Given the description of an element on the screen output the (x, y) to click on. 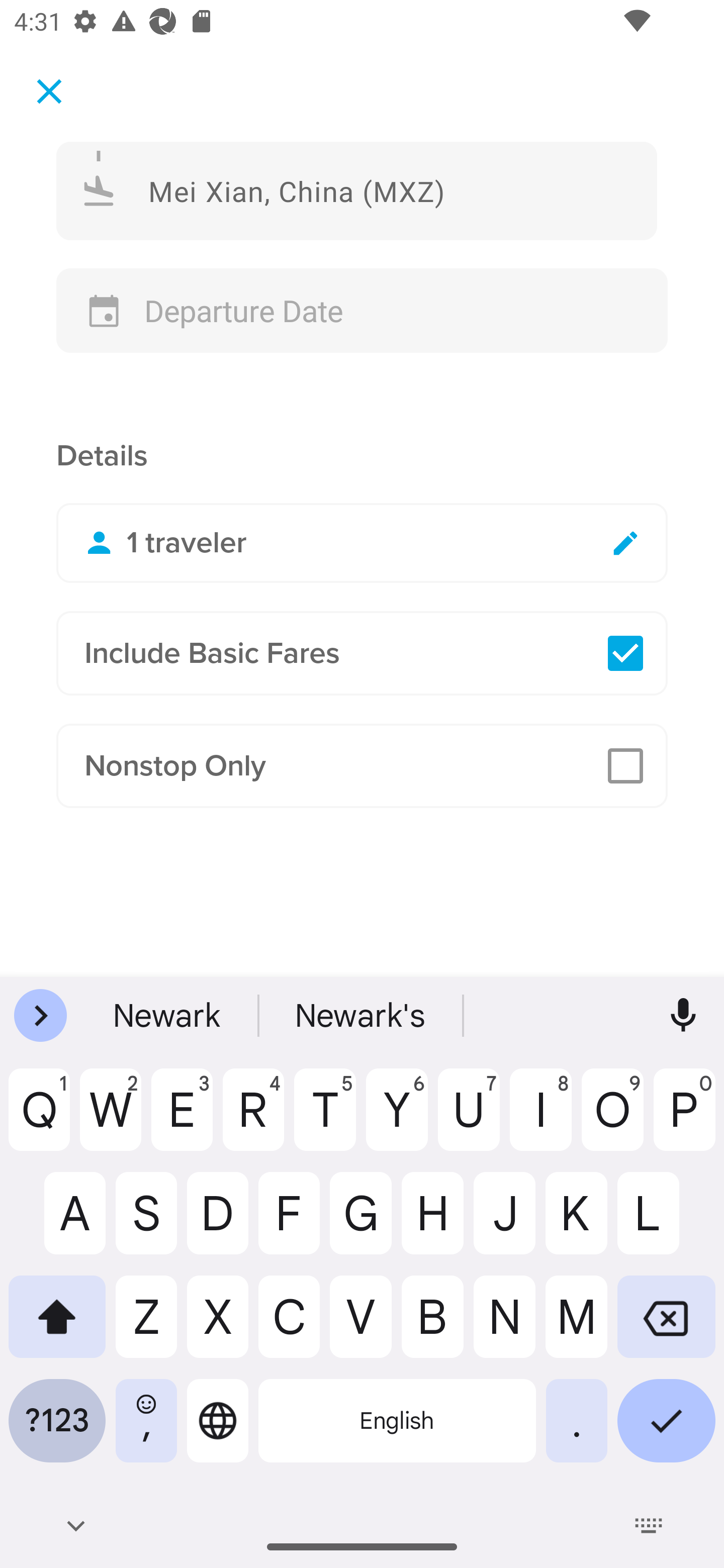
Cancel (49, 90)
Mei Xian, China (MXZ) (356, 190)
Departure Date (361, 310)
1 traveler Edit Travelers (361, 542)
Include Basic Fares (361, 653)
Nonstop Only (361, 765)
